Given the description of an element on the screen output the (x, y) to click on. 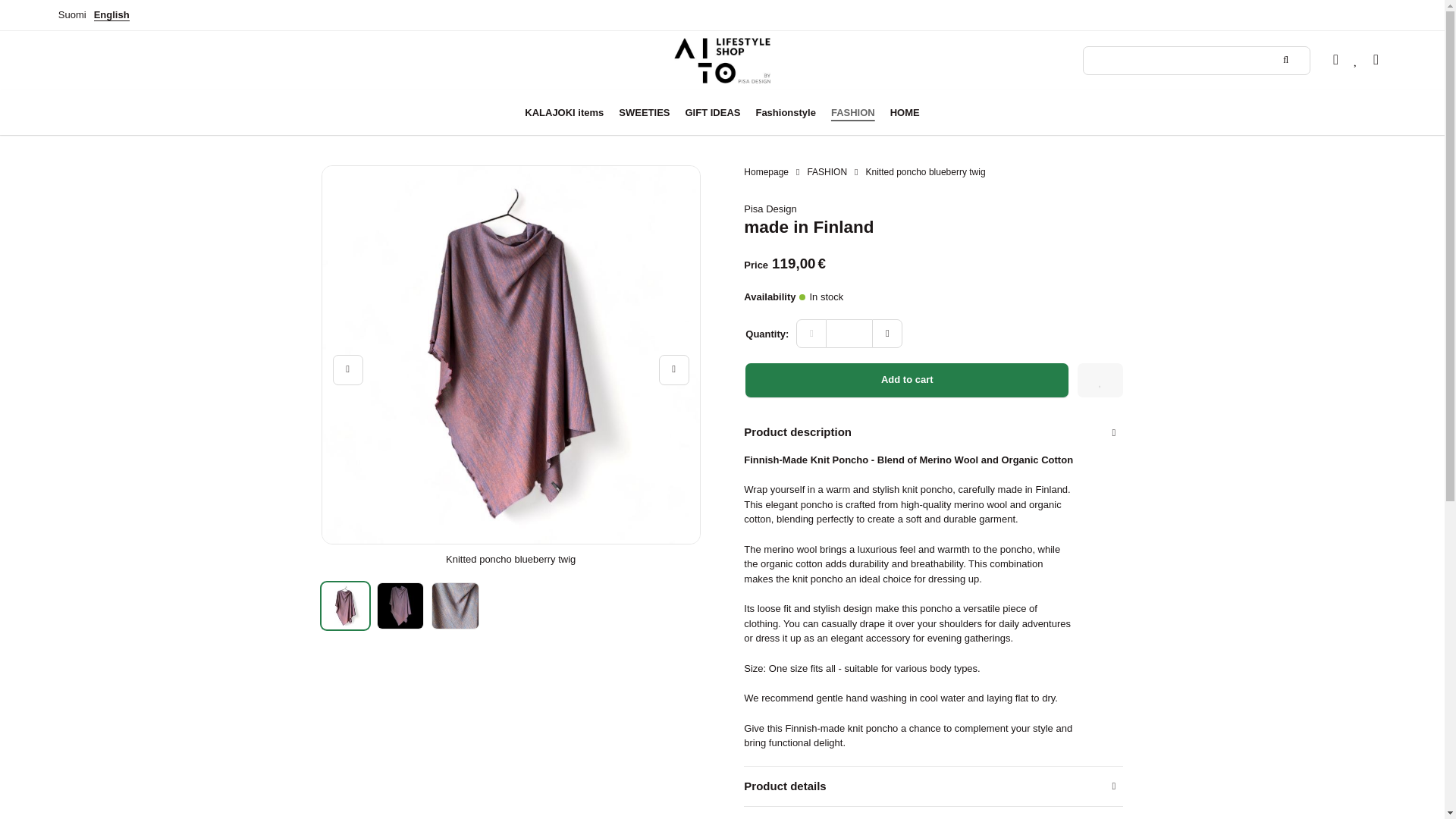
GIFT IDEAS (713, 112)
FASHION (853, 112)
English (111, 14)
KALAJOKI items (563, 112)
KALAJOKI items (563, 112)
Suomi (71, 14)
FASHION (853, 112)
Search (1287, 59)
AITO LIFESTYLE SHOP BY PISA DESIGN (722, 60)
SWEETIES (644, 112)
Fashionstyle (785, 112)
GIFT IDEAS (713, 112)
Fashionstyle (785, 112)
SWEETIES (644, 112)
HOME (904, 112)
